Given the description of an element on the screen output the (x, y) to click on. 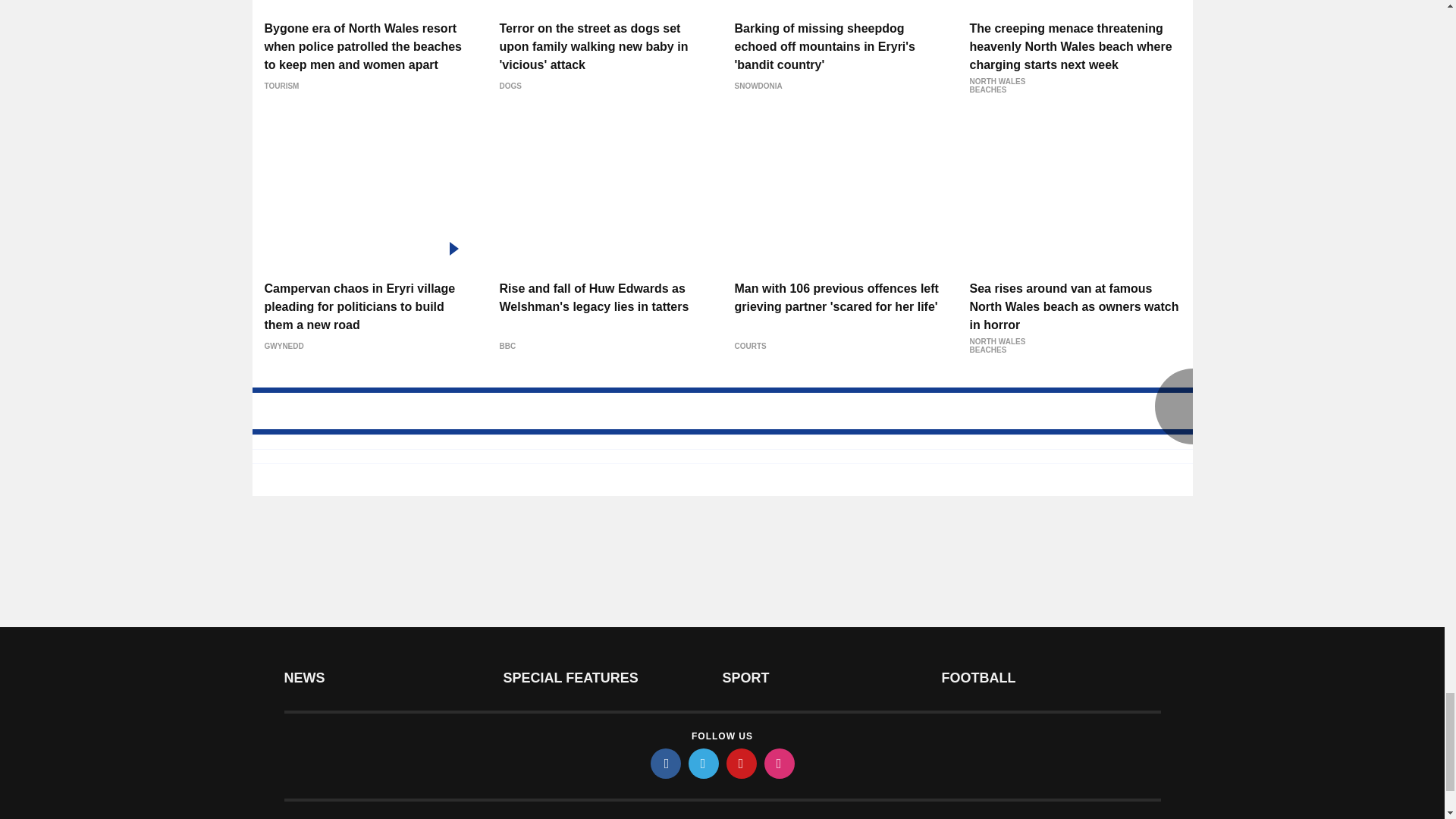
pinterest (741, 763)
instagram (779, 763)
twitter (703, 763)
facebook (665, 763)
